Given the description of an element on the screen output the (x, y) to click on. 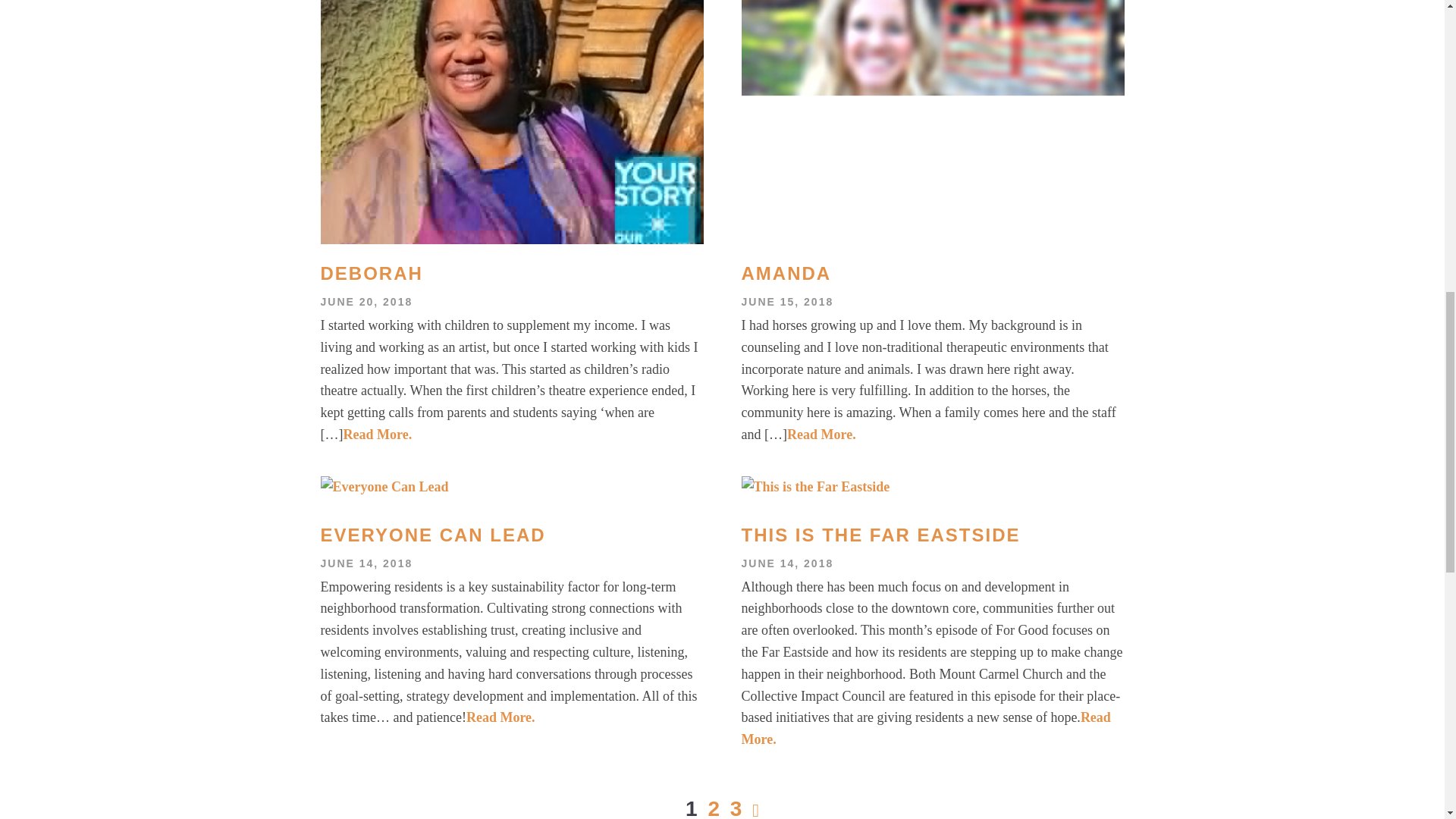
Deborah (511, 273)
This is the Far Eastside (932, 535)
Everyone Can Lead (511, 535)
Amanda (932, 273)
